Given the description of an element on the screen output the (x, y) to click on. 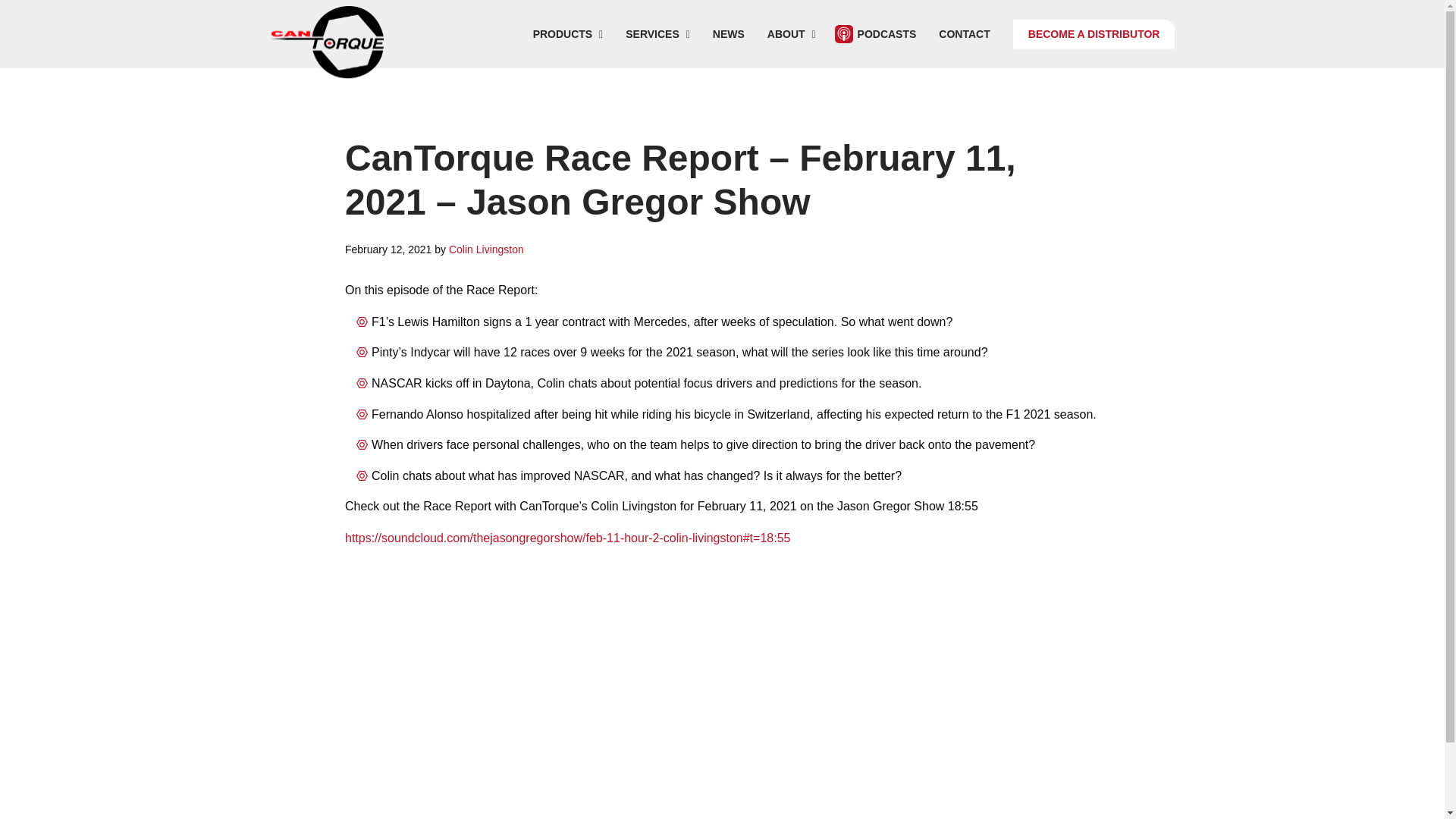
PRODUCTS (567, 33)
BECOME A DISTRIBUTOR (1093, 34)
CONTACT (964, 33)
ABOUT (791, 33)
SERVICES (657, 33)
Posts by Colin Livingston (486, 249)
PODCASTS (881, 33)
NEWS (728, 33)
